Given the description of an element on the screen output the (x, y) to click on. 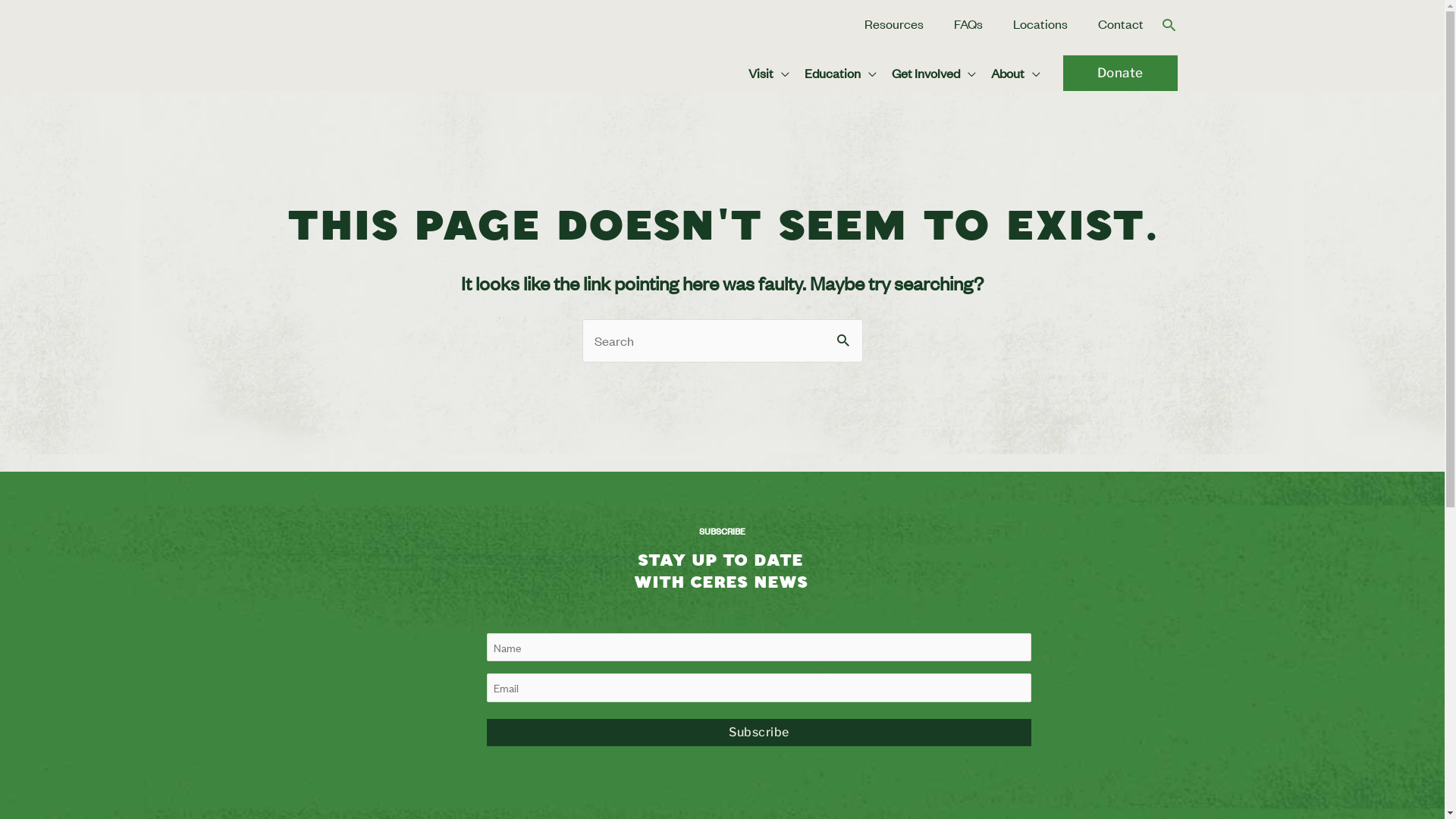
Get Involved Element type: text (933, 72)
Locations Element type: text (1039, 16)
Subscribe Element type: text (759, 732)
Donate Element type: text (1120, 73)
Search Element type: text (845, 335)
Contact Element type: text (1120, 16)
Search Element type: text (1168, 24)
About Element type: text (1014, 72)
Education Element type: text (839, 72)
FAQs Element type: text (967, 16)
Visit Element type: text (768, 72)
Resources Element type: text (893, 16)
